Given the description of an element on the screen output the (x, y) to click on. 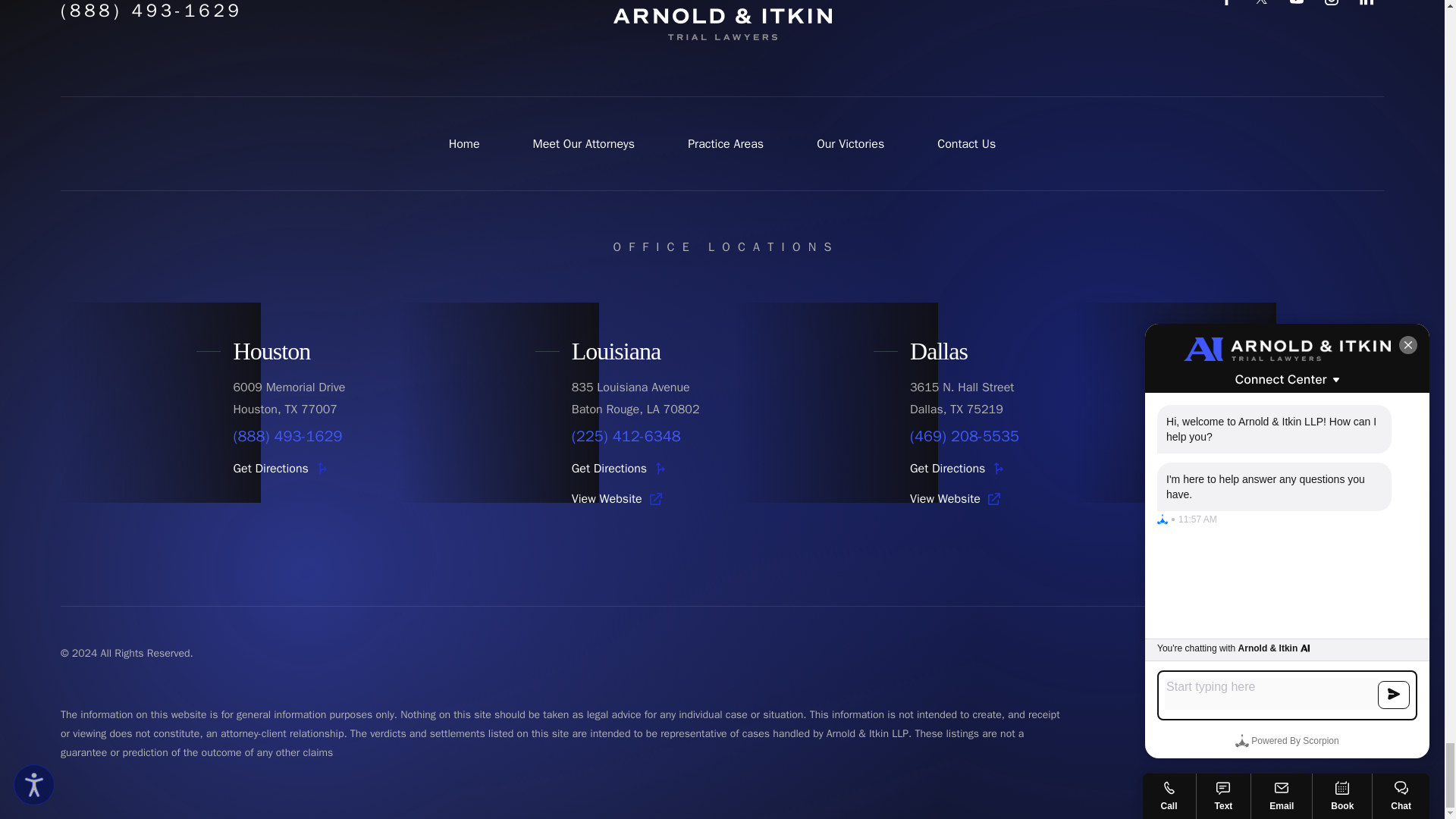
LinkedIn (1366, 4)
YouTube (1296, 4)
Facebook (1227, 4)
Instagram (1331, 4)
Twitter (1261, 4)
